Given the description of an element on the screen output the (x, y) to click on. 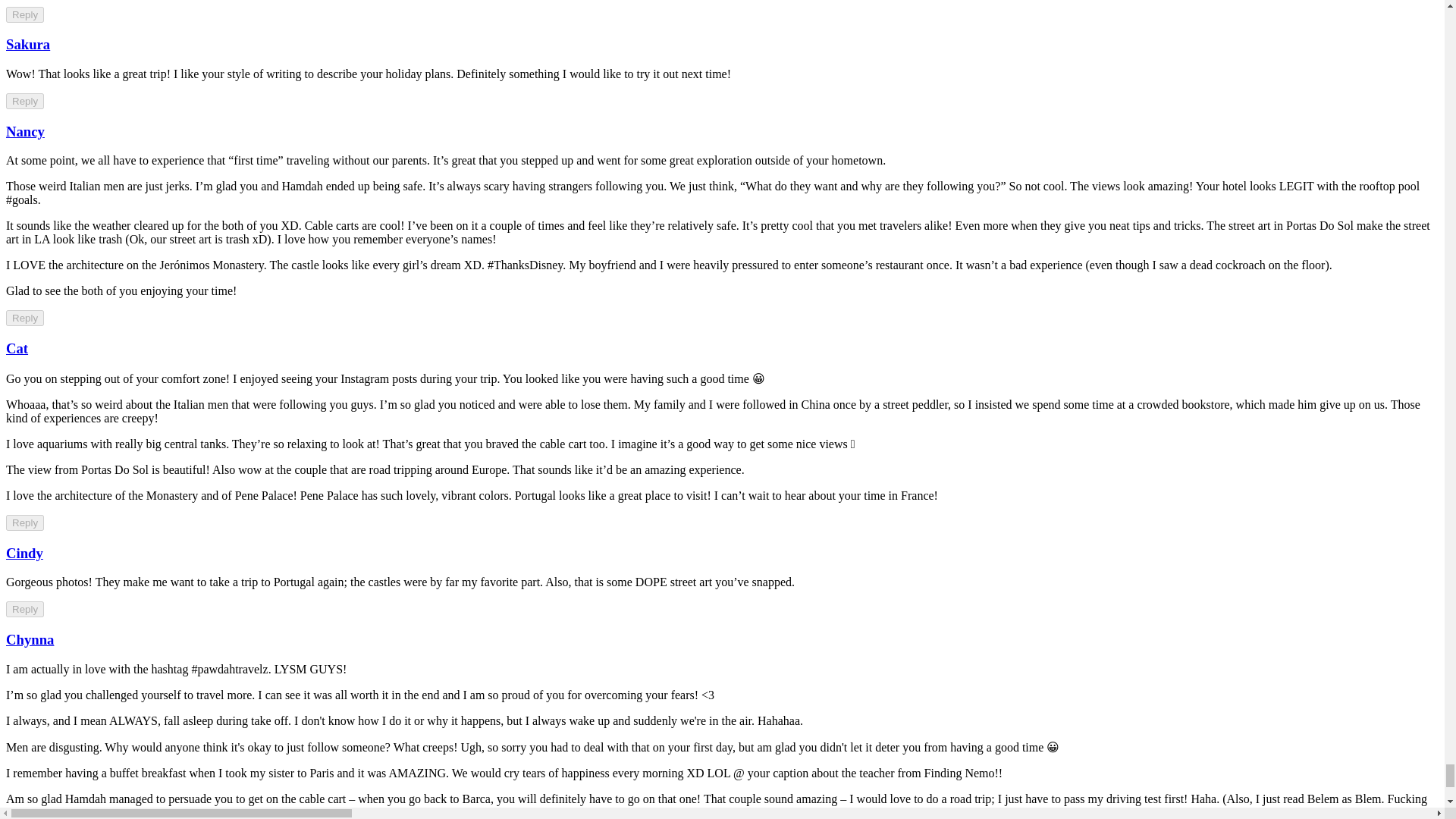
Chynna (29, 639)
Nancy (25, 131)
Cat (16, 348)
Cindy (24, 553)
Reply (24, 317)
Reply (24, 522)
Sakura (27, 44)
Reply (24, 609)
Reply (24, 14)
Reply (24, 100)
